Given the description of an element on the screen output the (x, y) to click on. 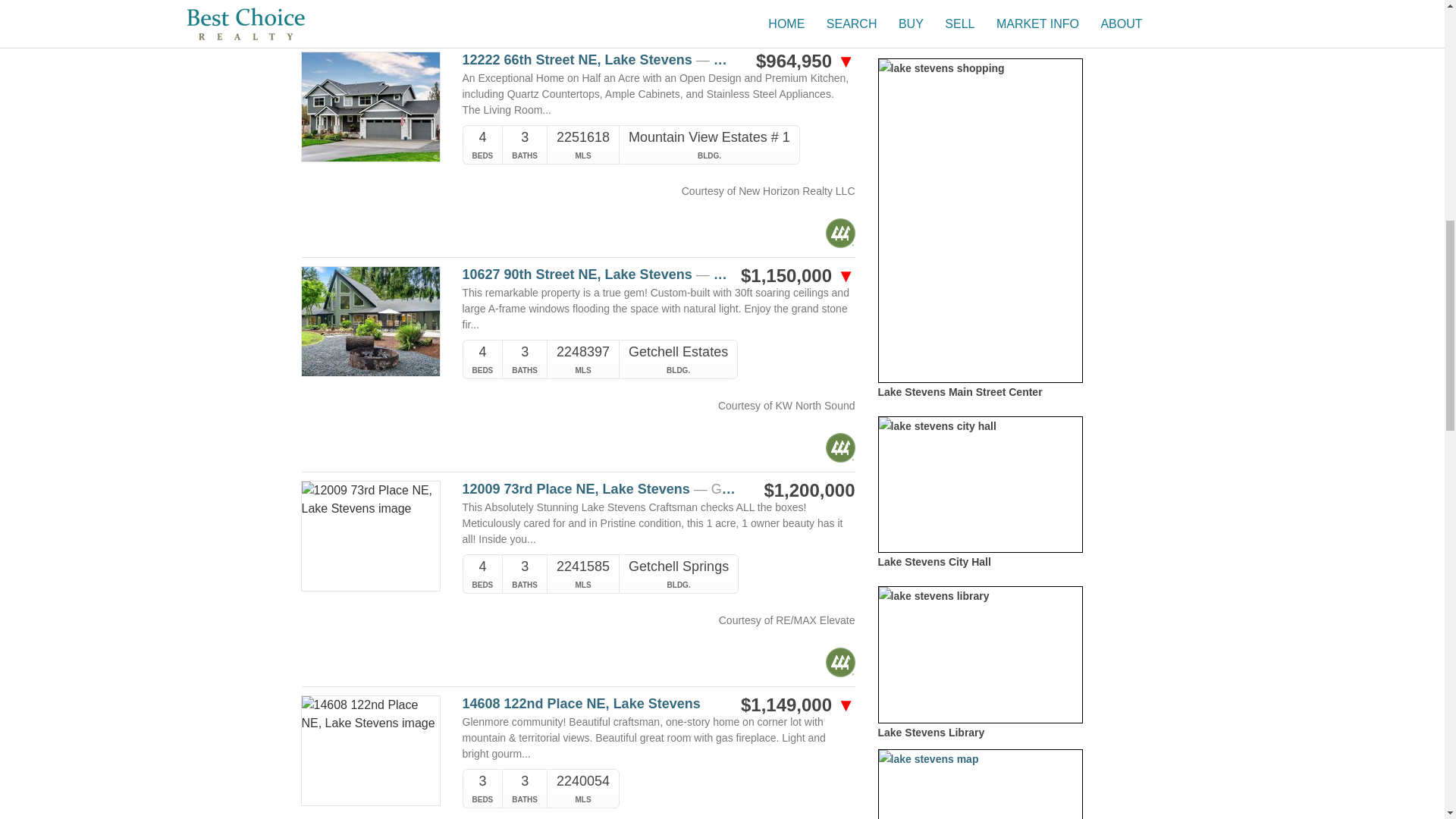
14608 122nd Place NE, Lake Stevens (600, 703)
